Given the description of an element on the screen output the (x, y) to click on. 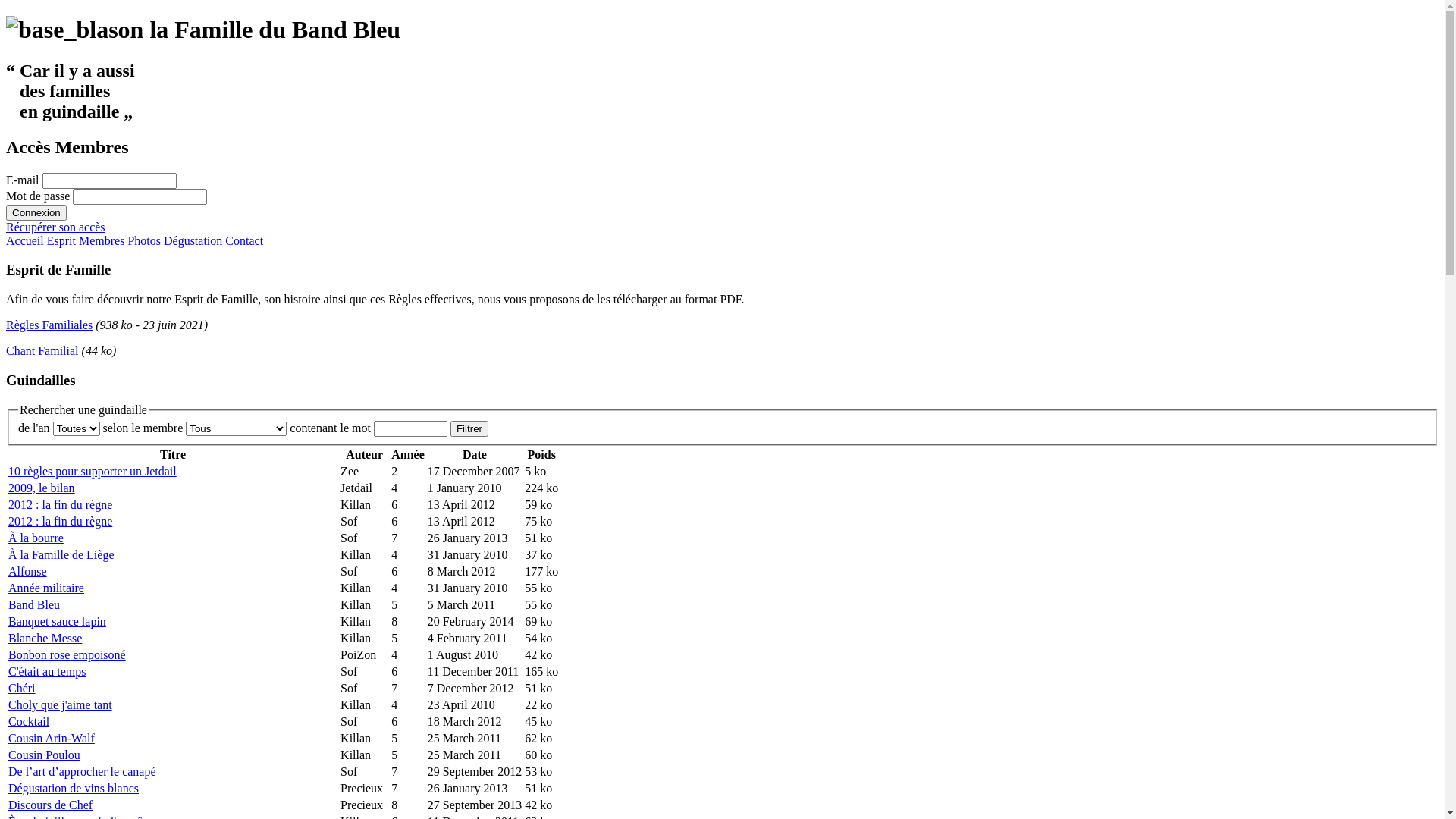
Filtrer Element type: text (469, 428)
Connexion Element type: text (36, 212)
Discours de Chef Element type: text (50, 804)
Accueil Element type: text (24, 240)
Blanche Messe Element type: text (44, 637)
Cousin Arin-Walf Element type: text (51, 737)
Cocktail Element type: text (28, 721)
Esprit Element type: text (61, 240)
Band Bleu Element type: text (33, 604)
Cousin Poulou Element type: text (44, 754)
Banquet sauce lapin Element type: text (57, 621)
2009, le bilan Element type: text (41, 487)
Alfonse Element type: text (27, 570)
Membres Element type: text (101, 240)
Contact Element type: text (244, 240)
Chant Familial Element type: text (42, 350)
Photos Element type: text (143, 240)
Choly que j'aime tant Element type: text (60, 704)
